Given the description of an element on the screen output the (x, y) to click on. 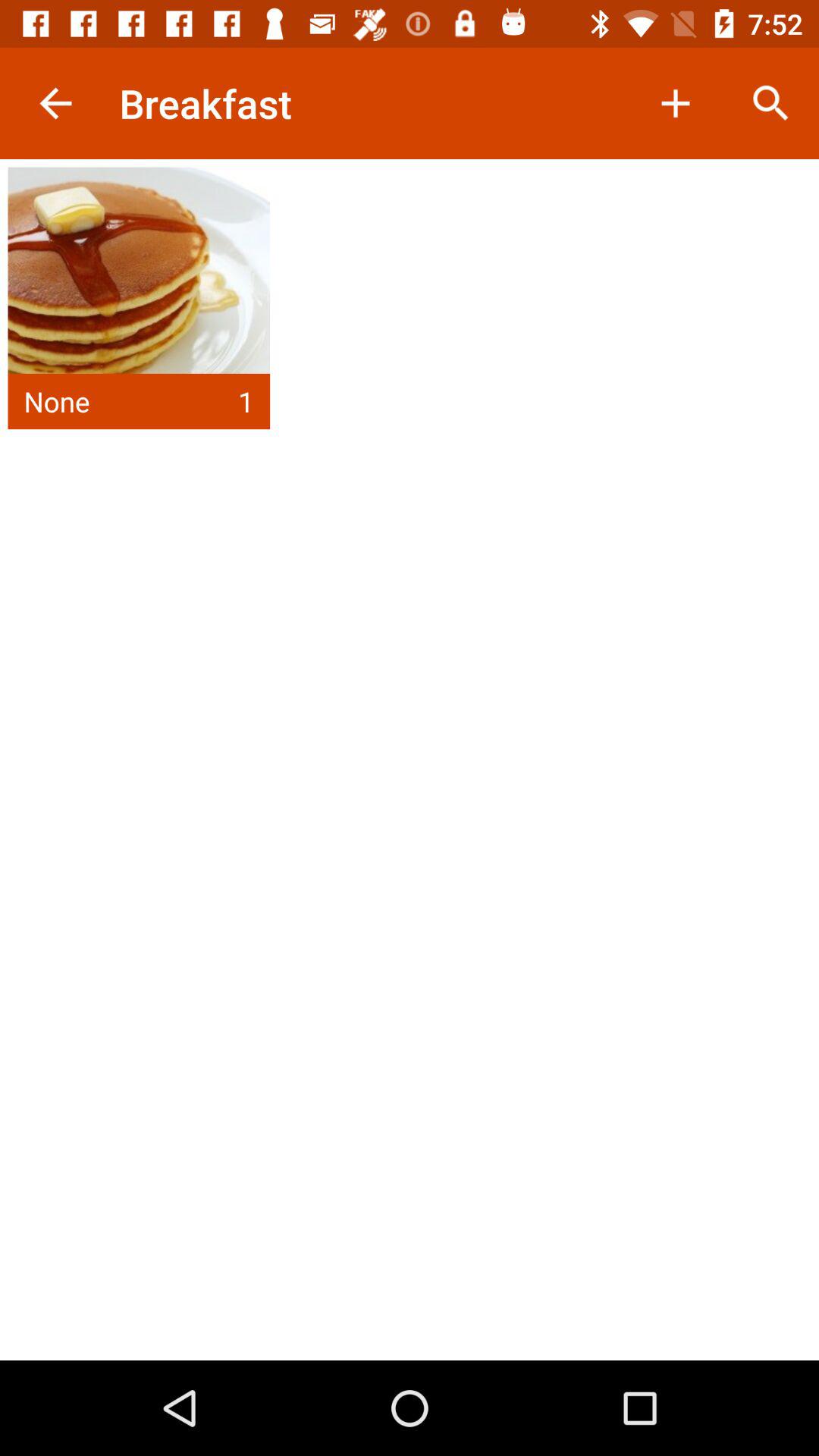
turn on app next to the breakfast item (55, 103)
